Given the description of an element on the screen output the (x, y) to click on. 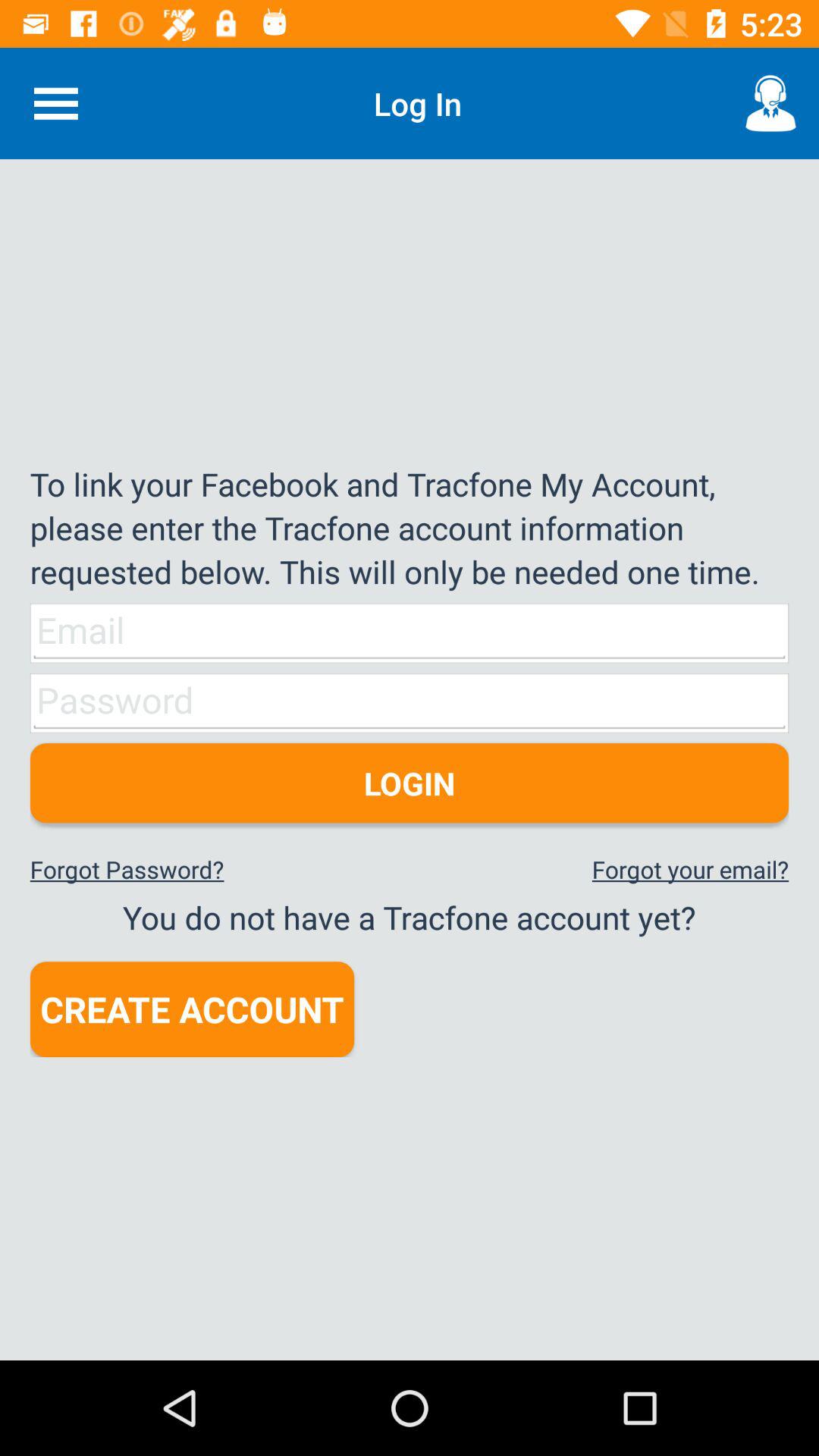
press item below you do not icon (192, 1009)
